Given the description of an element on the screen output the (x, y) to click on. 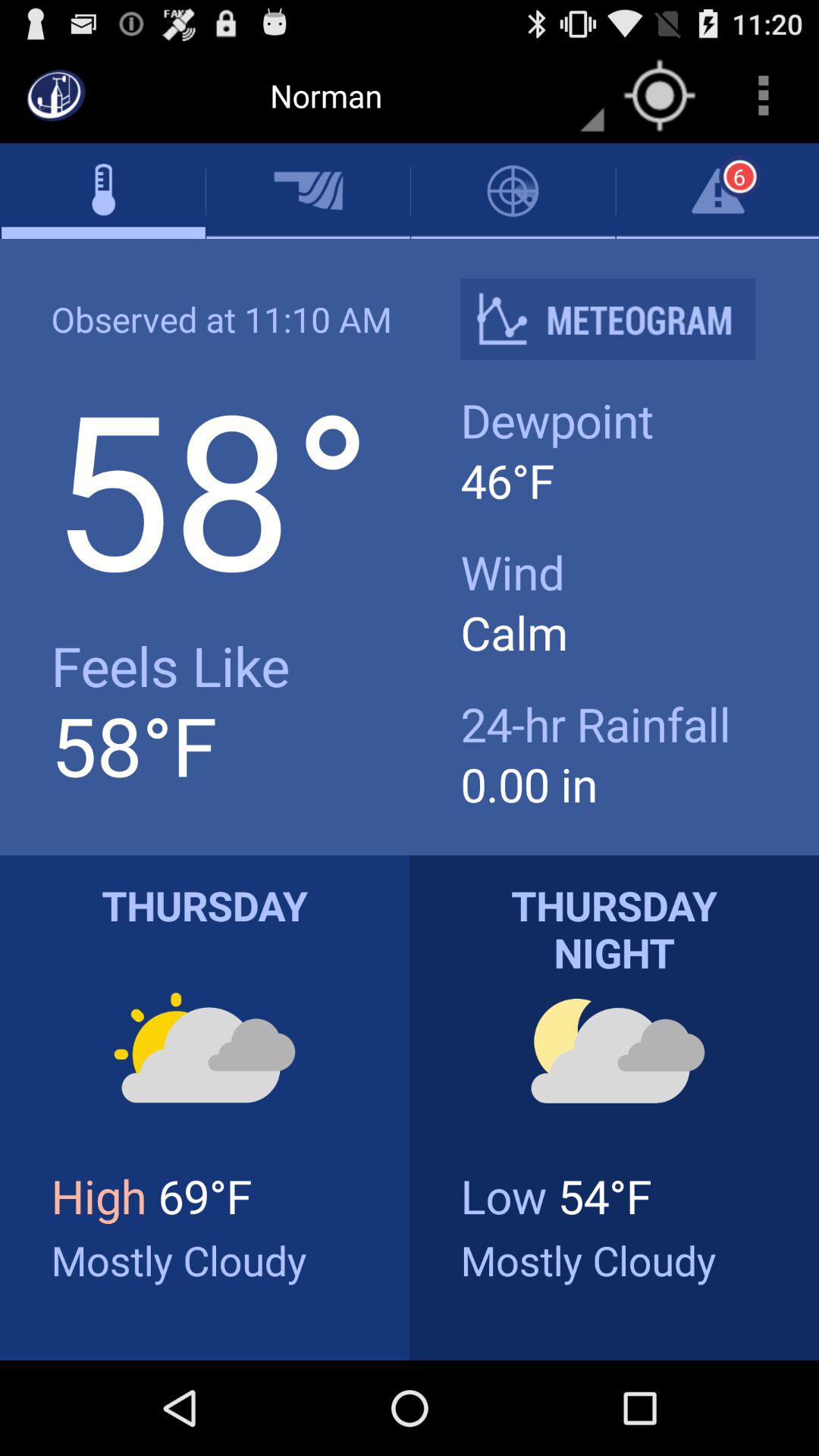
click icon next to observed at 11 (619, 319)
